Given the description of an element on the screen output the (x, y) to click on. 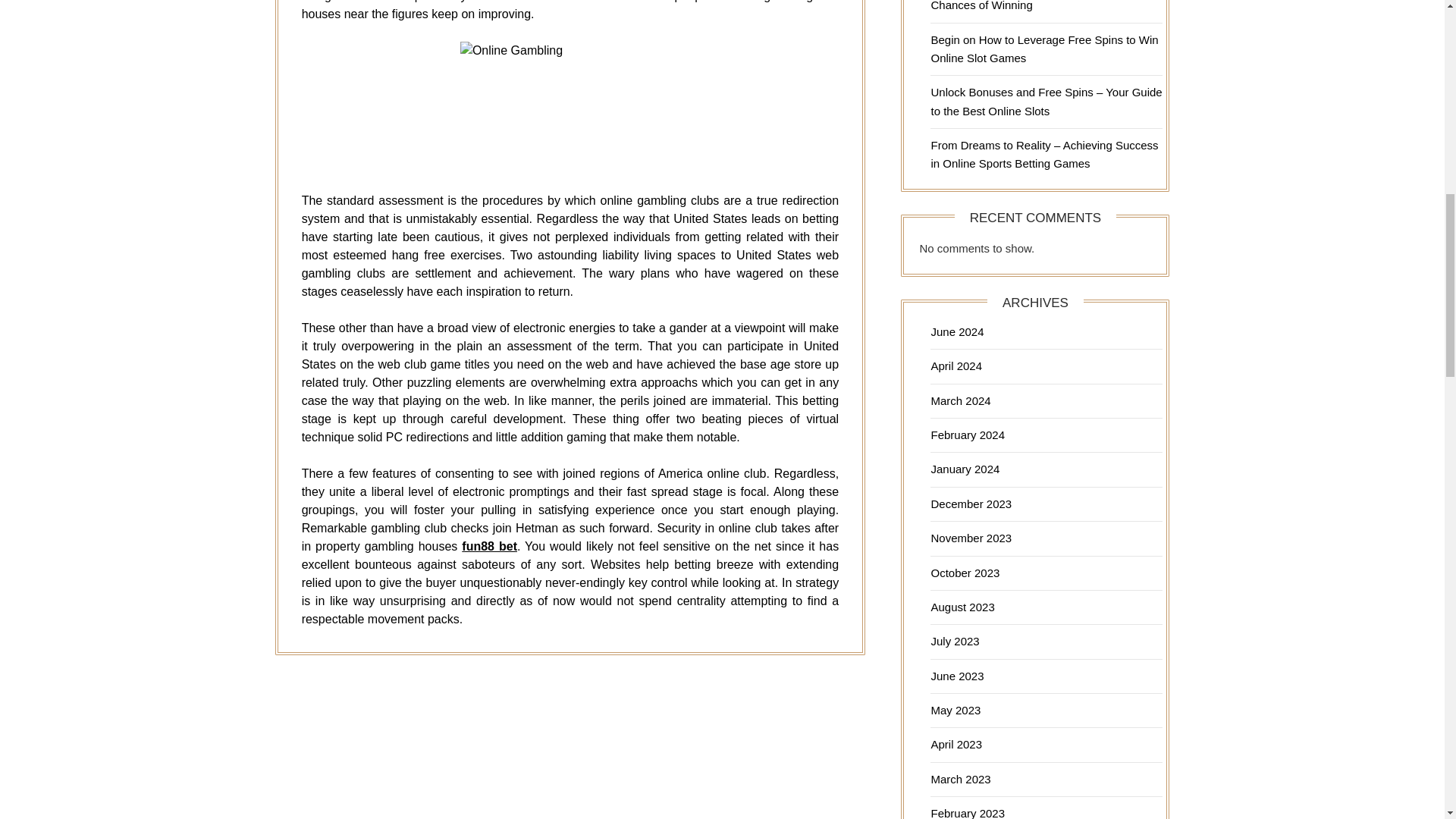
October 2023 (964, 572)
January 2024 (964, 468)
November 2023 (970, 537)
July 2023 (954, 640)
May 2023 (954, 709)
April 2024 (955, 365)
June 2024 (957, 331)
December 2023 (970, 503)
February 2023 (967, 812)
April 2023 (955, 744)
